Given the description of an element on the screen output the (x, y) to click on. 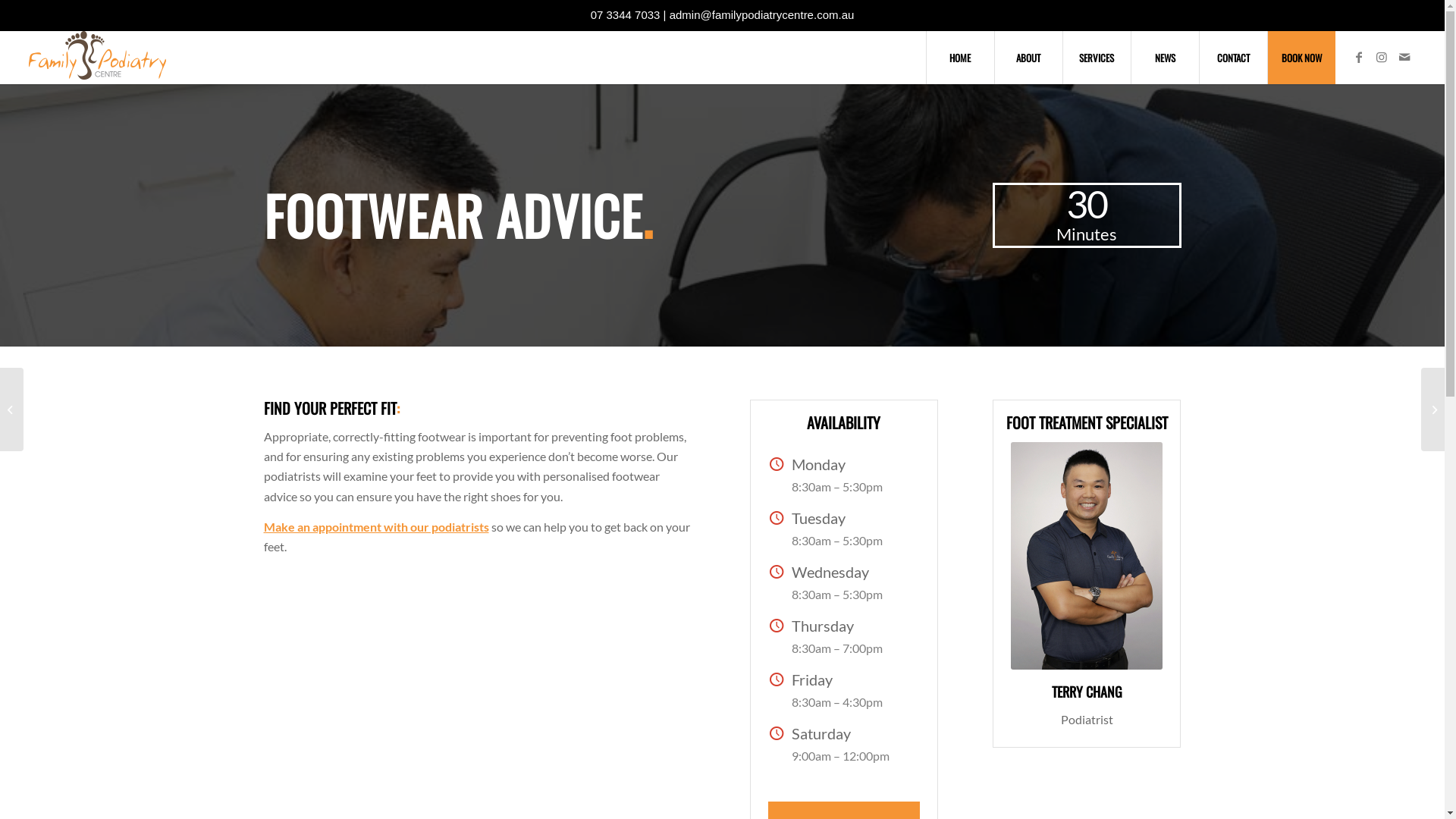
Terry_web_9959 Element type: hover (1086, 555)
SERVICES Element type: text (1096, 57)
BOOK NOW Element type: text (1301, 57)
NEWS Element type: text (1164, 57)
Mail Element type: hover (1404, 56)
HOME Element type: text (959, 57)
Instagram Element type: hover (1381, 56)
CONTACT Element type: text (1232, 57)
Facebook Element type: hover (1358, 56)
Make an appointment with our podiatrists Element type: text (376, 526)
ABOUT Element type: text (1028, 57)
